Given the description of an element on the screen output the (x, y) to click on. 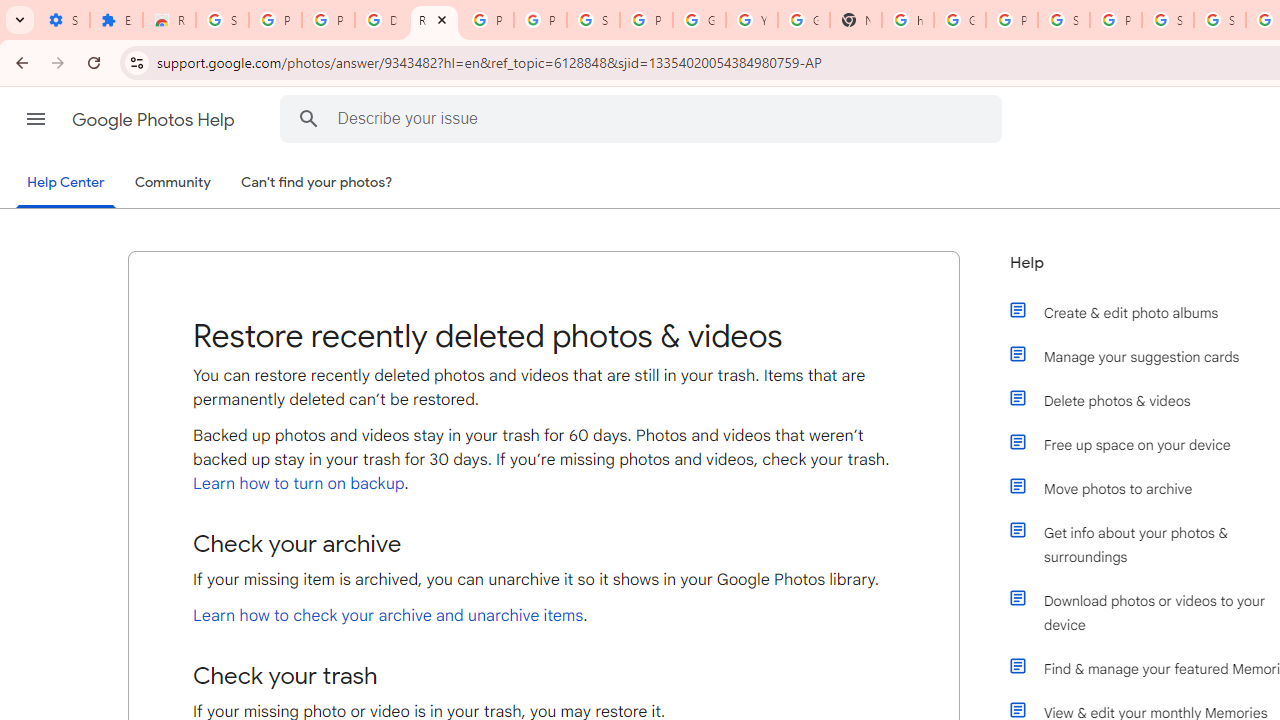
Google Account (699, 20)
Main menu (35, 119)
Sign in - Google Accounts (222, 20)
Describe your issue (644, 118)
Extensions (116, 20)
View site information (136, 62)
Back (19, 62)
Sign in - Google Accounts (1064, 20)
Delete photos & videos - Computer - Google Photos Help (381, 20)
Help Center (65, 183)
Community (171, 183)
